Given the description of an element on the screen output the (x, y) to click on. 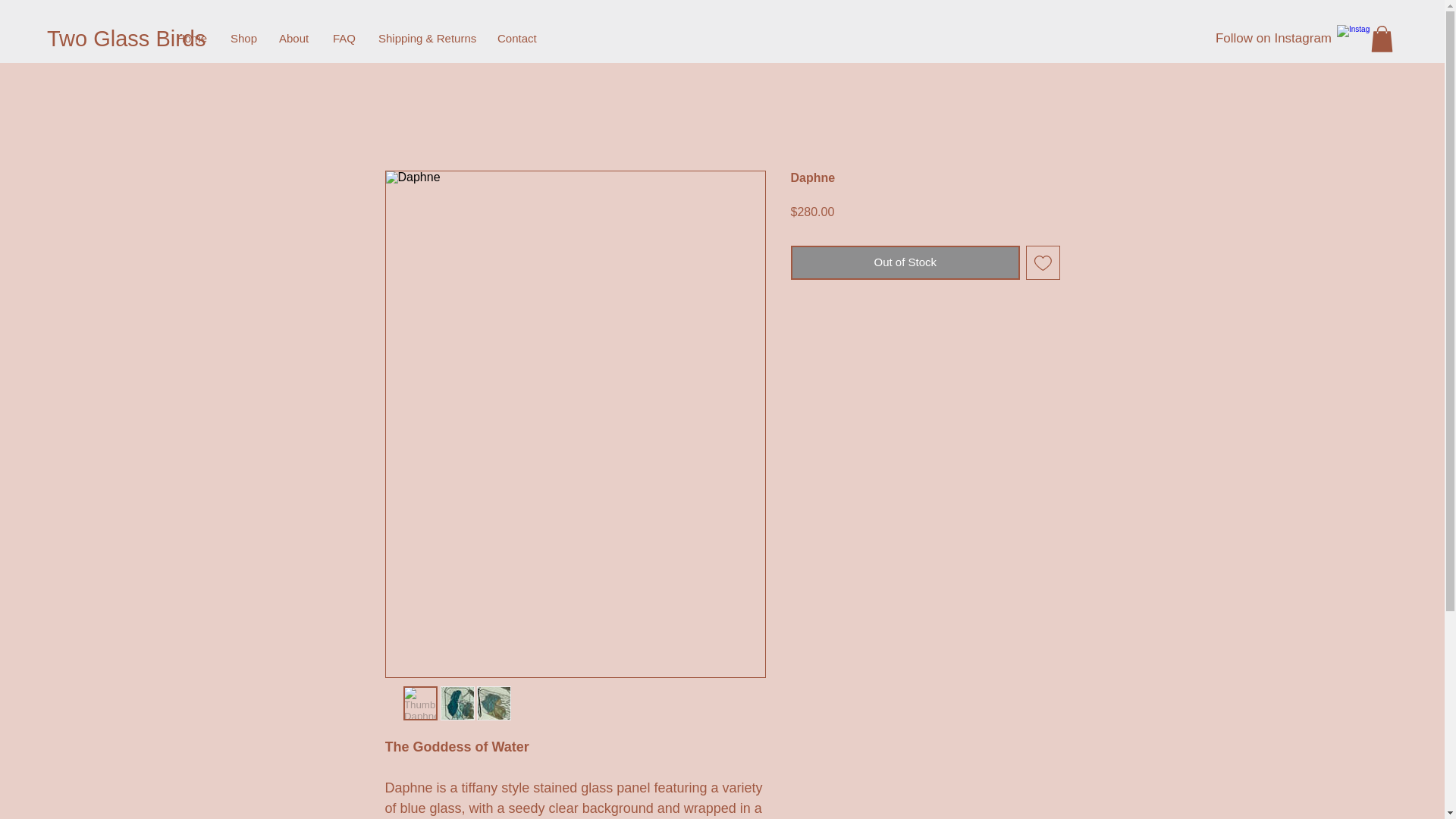
About (294, 38)
Two Glass Birds (126, 38)
Contact (517, 38)
FAQ (343, 38)
Shop (243, 38)
Out of Stock (905, 262)
Home (192, 38)
